Given the description of an element on the screen output the (x, y) to click on. 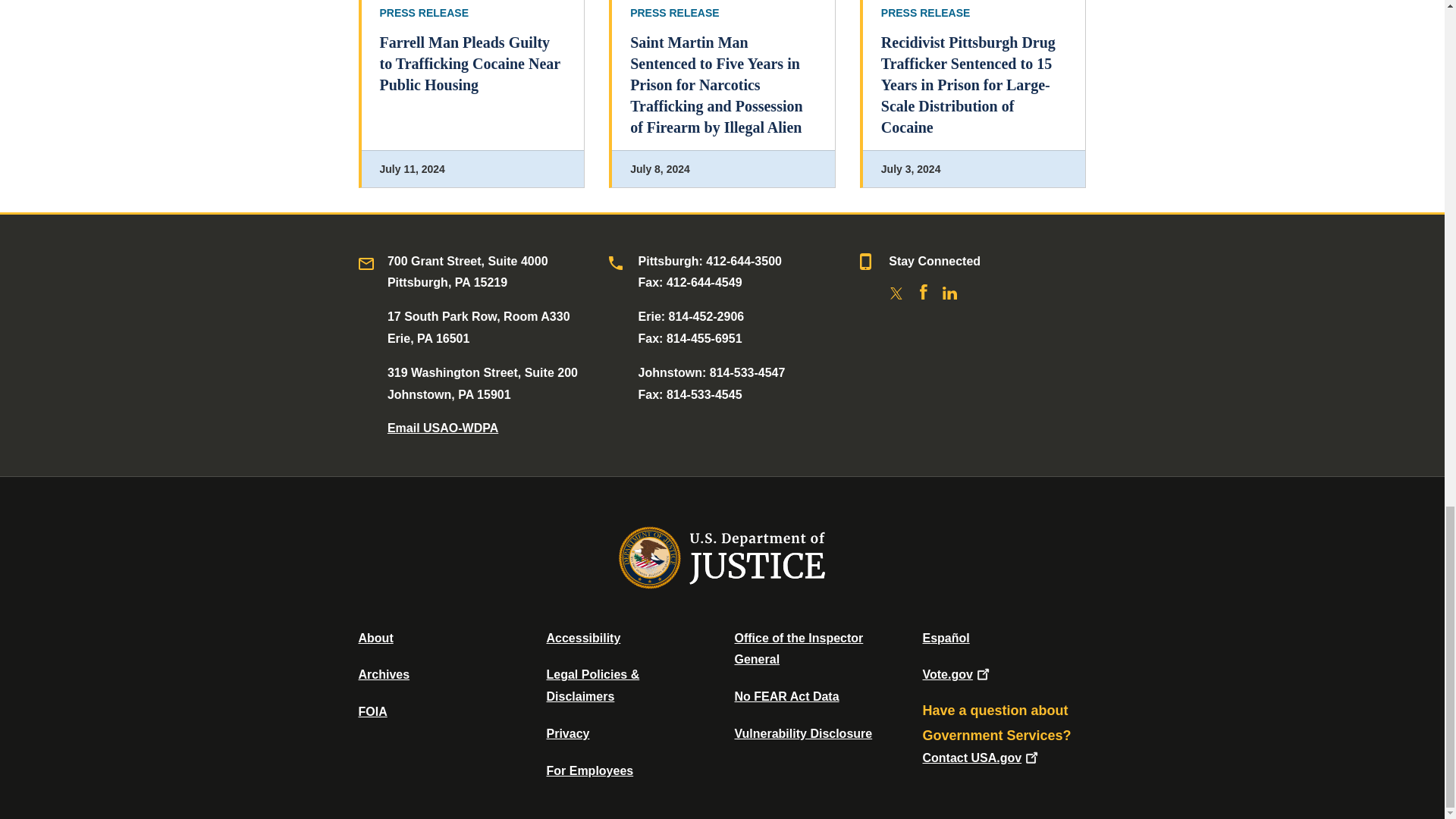
Department of Justice Archive (383, 674)
For Employees (589, 770)
Legal Policies and Disclaimers (592, 685)
Office of Information Policy (372, 711)
Accessibility Statement (583, 637)
Data Posted Pursuant To The No Fear Act (785, 696)
About DOJ (375, 637)
